Given the description of an element on the screen output the (x, y) to click on. 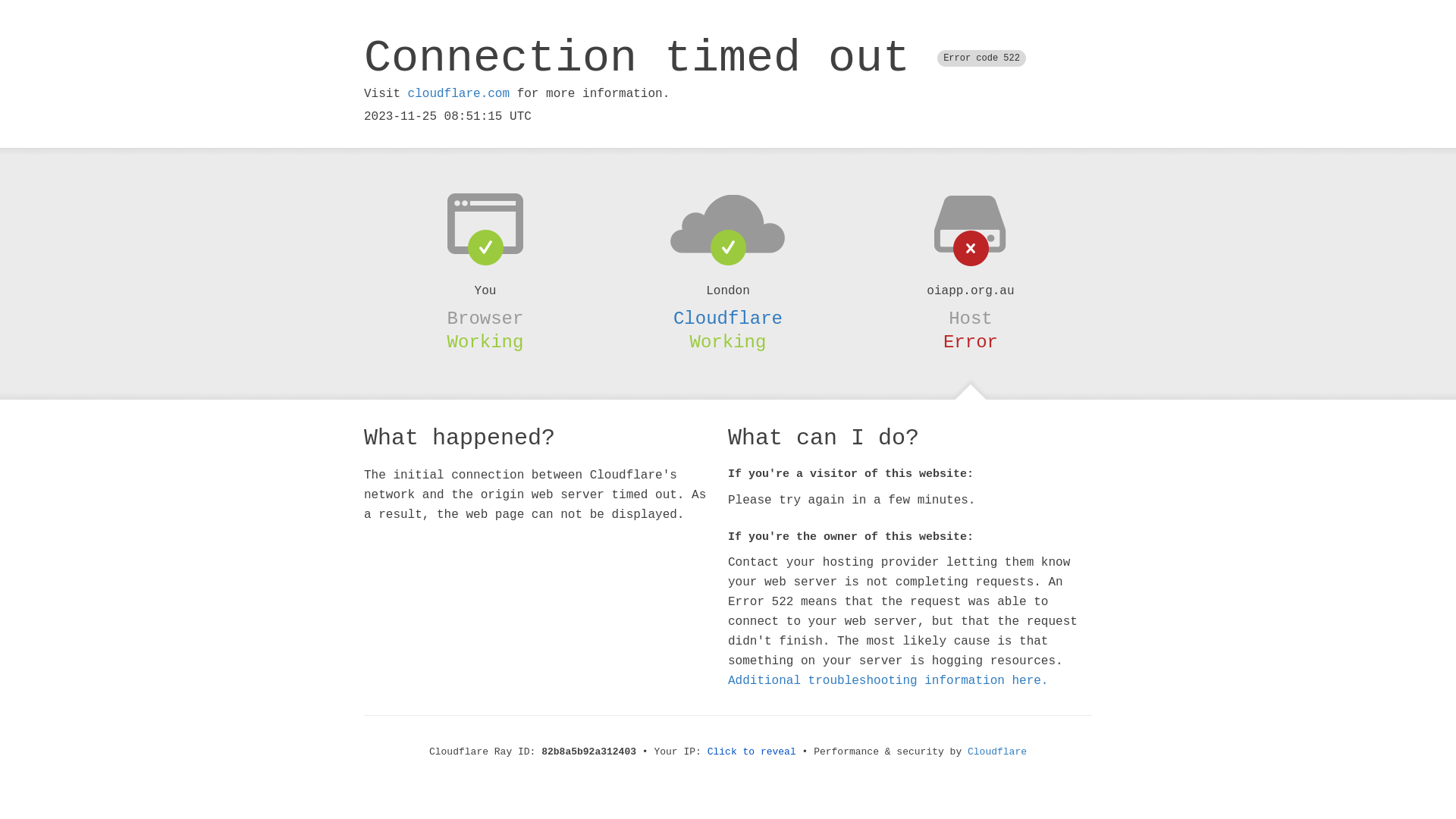
cloudflare.com Element type: text (458, 93)
Cloudflare Element type: text (996, 751)
Cloudflare Element type: text (727, 318)
Additional troubleshooting information here. Element type: text (888, 680)
Click to reveal Element type: text (751, 751)
